Given the description of an element on the screen output the (x, y) to click on. 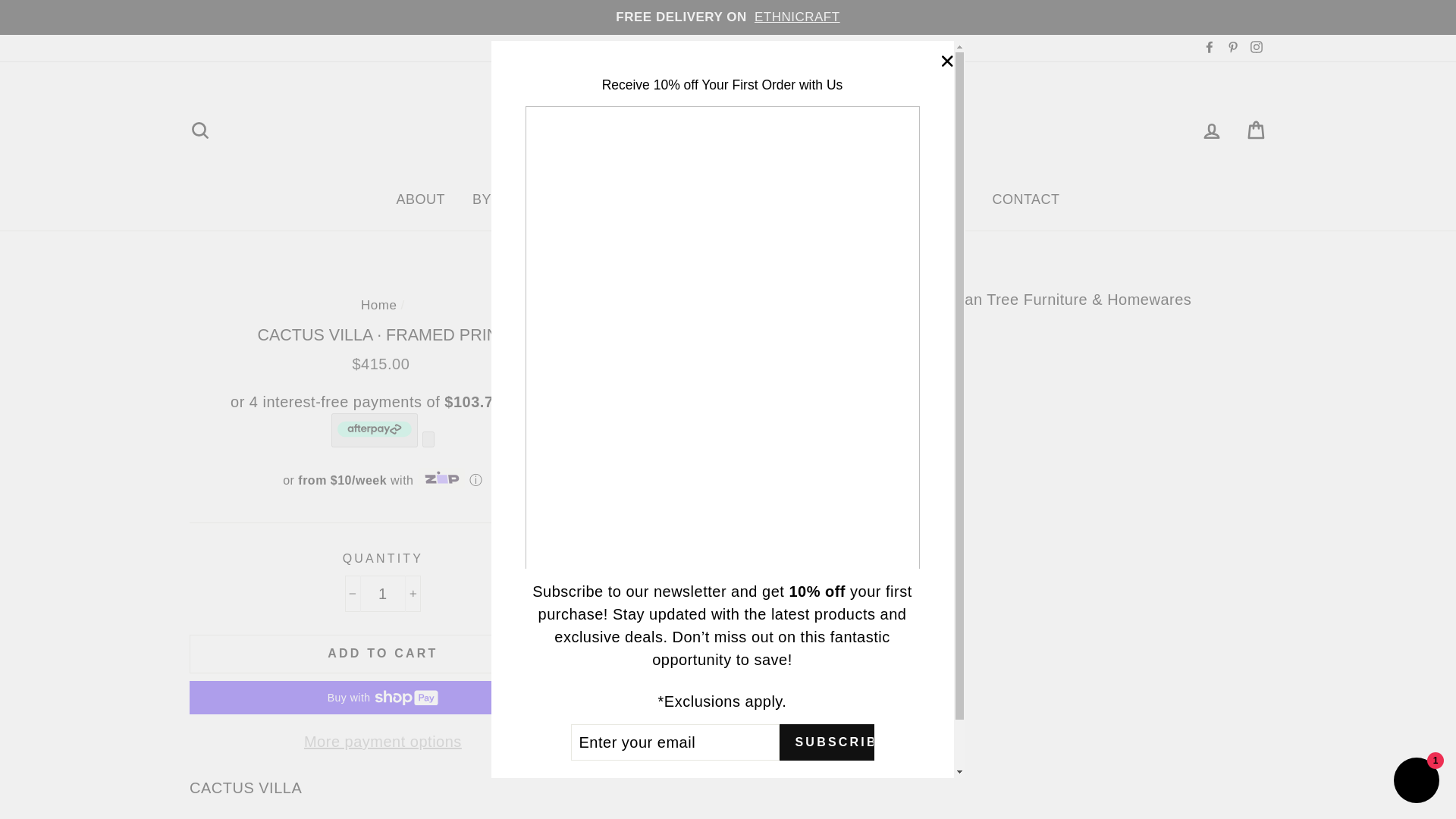
Back to the frontpage (378, 305)
1 (382, 593)
